Given the description of an element on the screen output the (x, y) to click on. 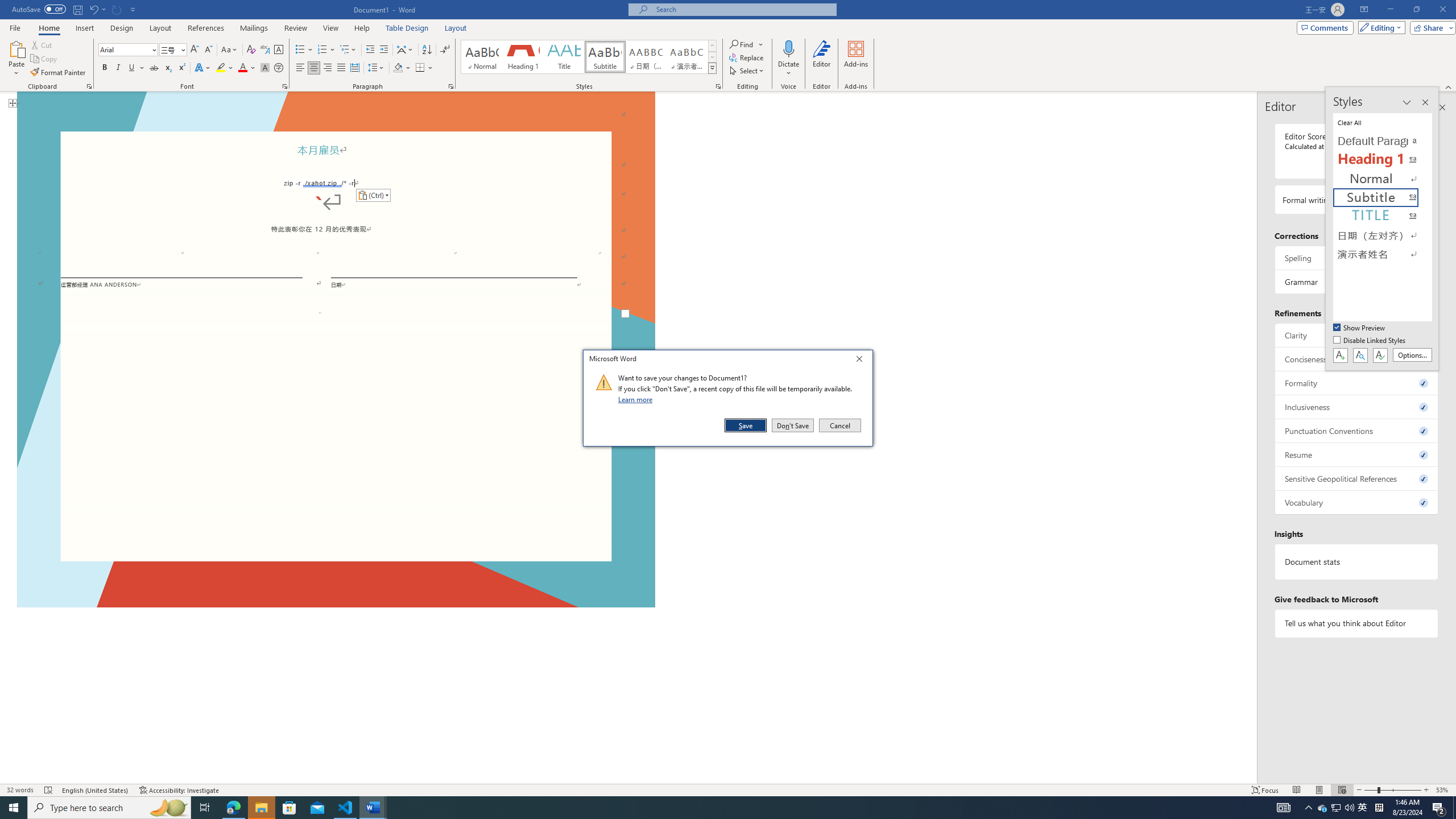
Action: Paste alternatives (373, 195)
